Given the description of an element on the screen output the (x, y) to click on. 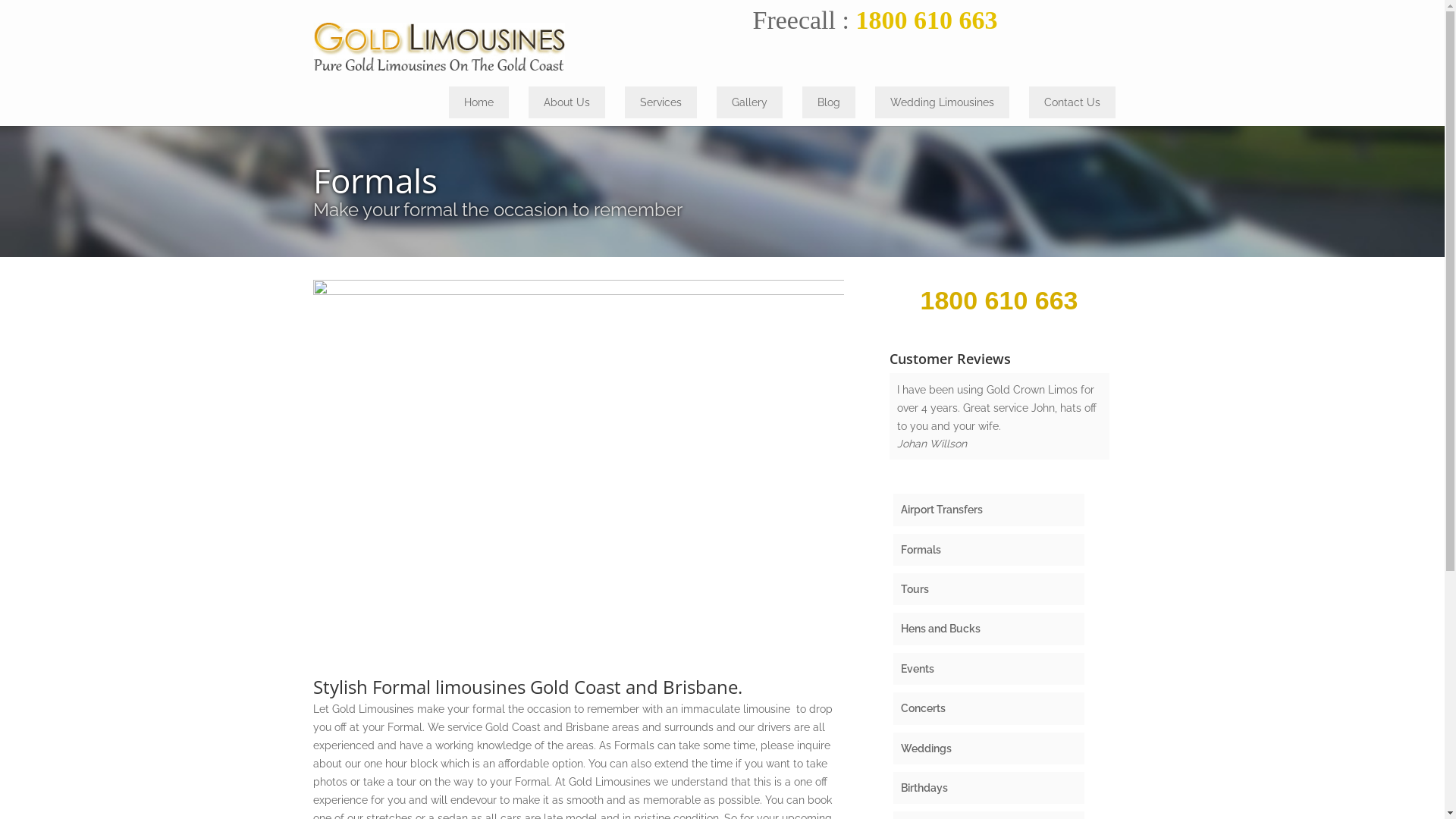
Hens and Bucks Element type: text (988, 628)
Formals  Element type: text (988, 549)
Gallery Element type: text (748, 102)
Contact Us Element type: text (1071, 102)
Birthdays Element type: text (988, 787)
Events  Element type: text (988, 668)
Concerts  Element type: text (988, 708)
Weddings  Element type: text (988, 748)
Tours  Element type: text (988, 589)
1800 610 663 Element type: text (926, 20)
Blog Element type: text (828, 102)
1800 610 663 Element type: text (999, 299)
Services Element type: text (660, 102)
Airport Transfers Element type: text (988, 509)
Home Element type: text (478, 102)
About Us Element type: text (565, 102)
Wedding Limousines Element type: text (942, 102)
